Given the description of an element on the screen output the (x, y) to click on. 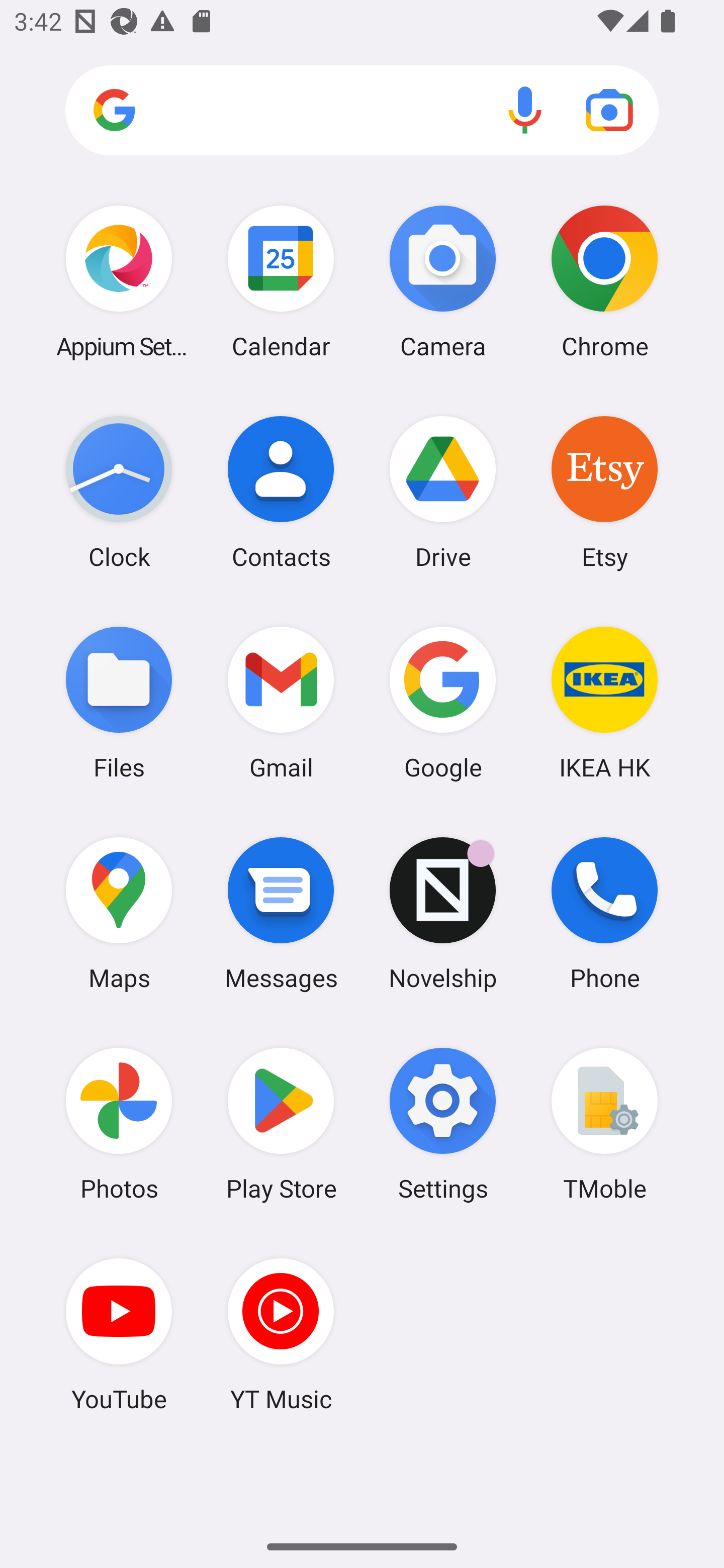
Search apps, web and more (361, 110)
Voice search (524, 109)
Google Lens (608, 109)
Appium Settings (118, 281)
Calendar (280, 281)
Camera (443, 281)
Chrome (604, 281)
Clock (118, 492)
Contacts (280, 492)
Drive (443, 492)
Etsy (604, 492)
Files (118, 702)
Gmail (280, 702)
Google (443, 702)
IKEA HK (604, 702)
Maps (118, 913)
Messages (280, 913)
Novelship Novelship has 5 notifications (443, 913)
Phone (604, 913)
Photos (118, 1124)
Play Store (280, 1124)
Settings (443, 1124)
TMoble (604, 1124)
YouTube (118, 1334)
YT Music (280, 1334)
